Given the description of an element on the screen output the (x, y) to click on. 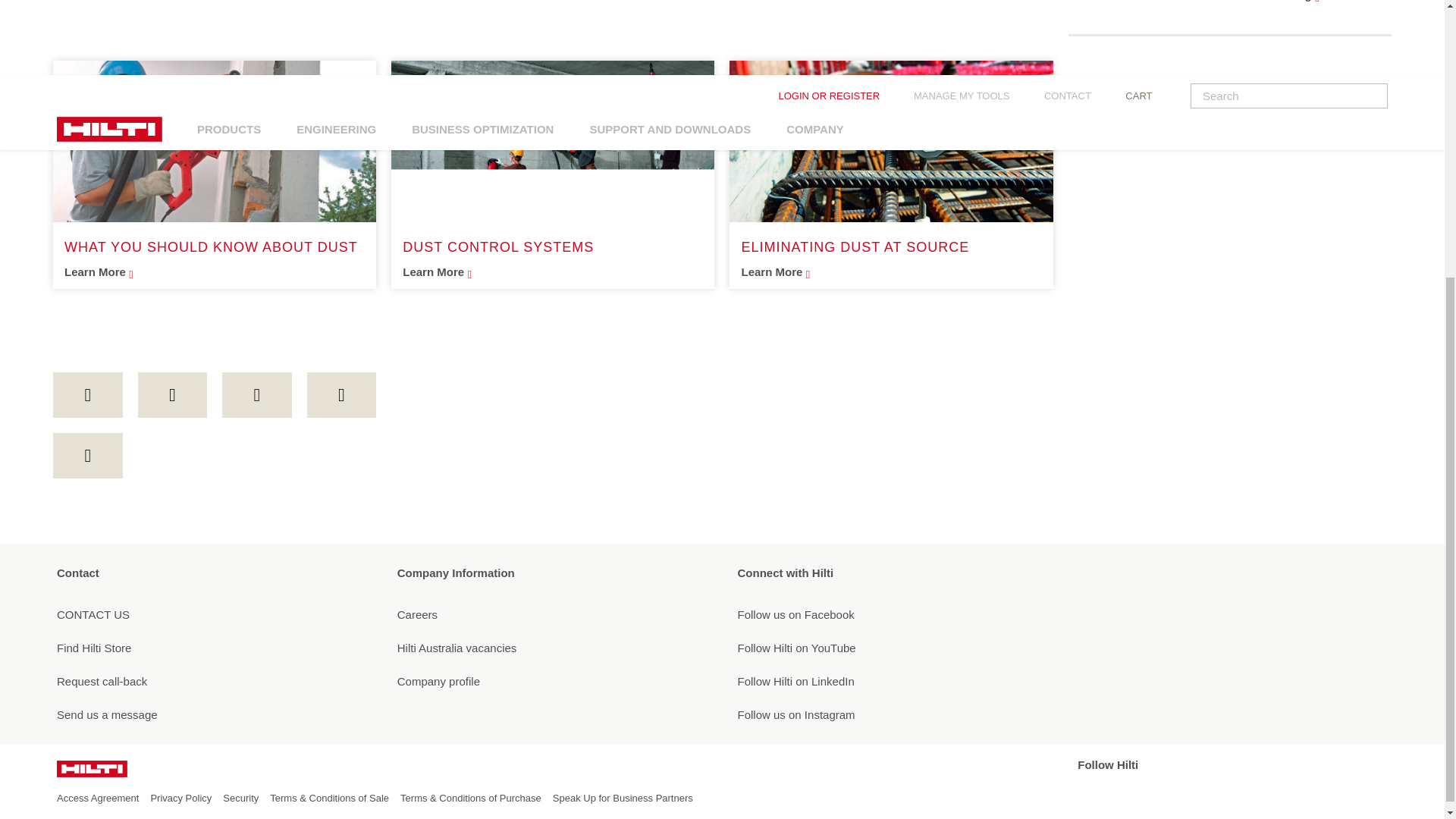
Send us a message (211, 714)
Careers (552, 614)
Learn More (891, 271)
Company profile (552, 681)
Request call-back (211, 681)
Hilti Australia vacancies (552, 647)
Follow Hilti on LinkedIn (891, 681)
Learn More (214, 271)
Follow us on Instagram (891, 714)
Follow us on Facebook (891, 614)
Follow Hilti on YouTube (891, 647)
Find Hilti Store (211, 647)
Access Agreement (97, 798)
Silica Dust Awareness Refresher Training (1233, 2)
Learn More (553, 271)
